Given the description of an element on the screen output the (x, y) to click on. 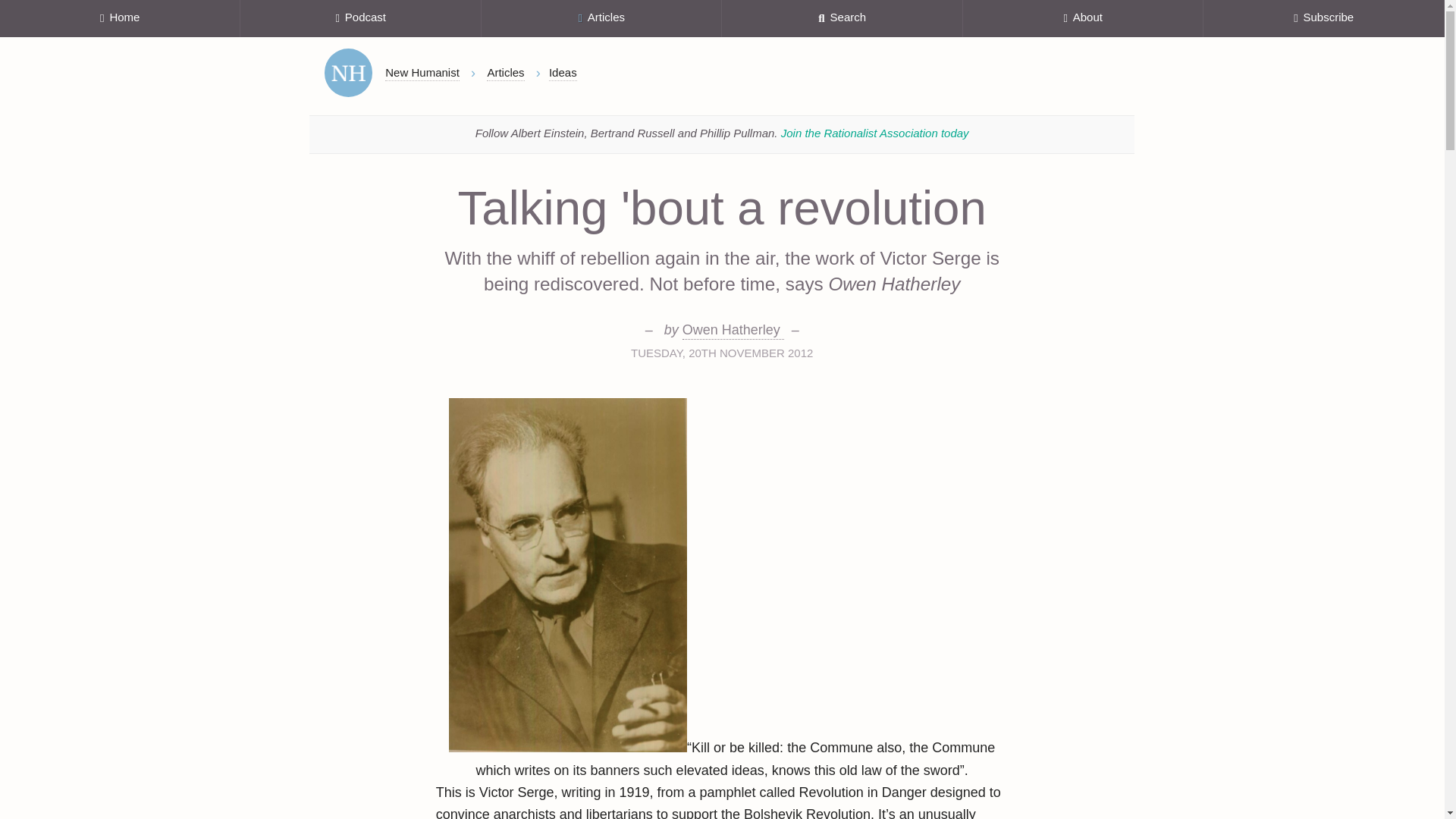
New Humanist (422, 73)
Ideas (562, 73)
Home (348, 72)
Subscribe (1324, 18)
Articles (505, 73)
Search (842, 18)
Podcast (360, 18)
Articles (601, 18)
Owen Hatherley (733, 330)
Home (120, 18)
About (1083, 18)
